Given the description of an element on the screen output the (x, y) to click on. 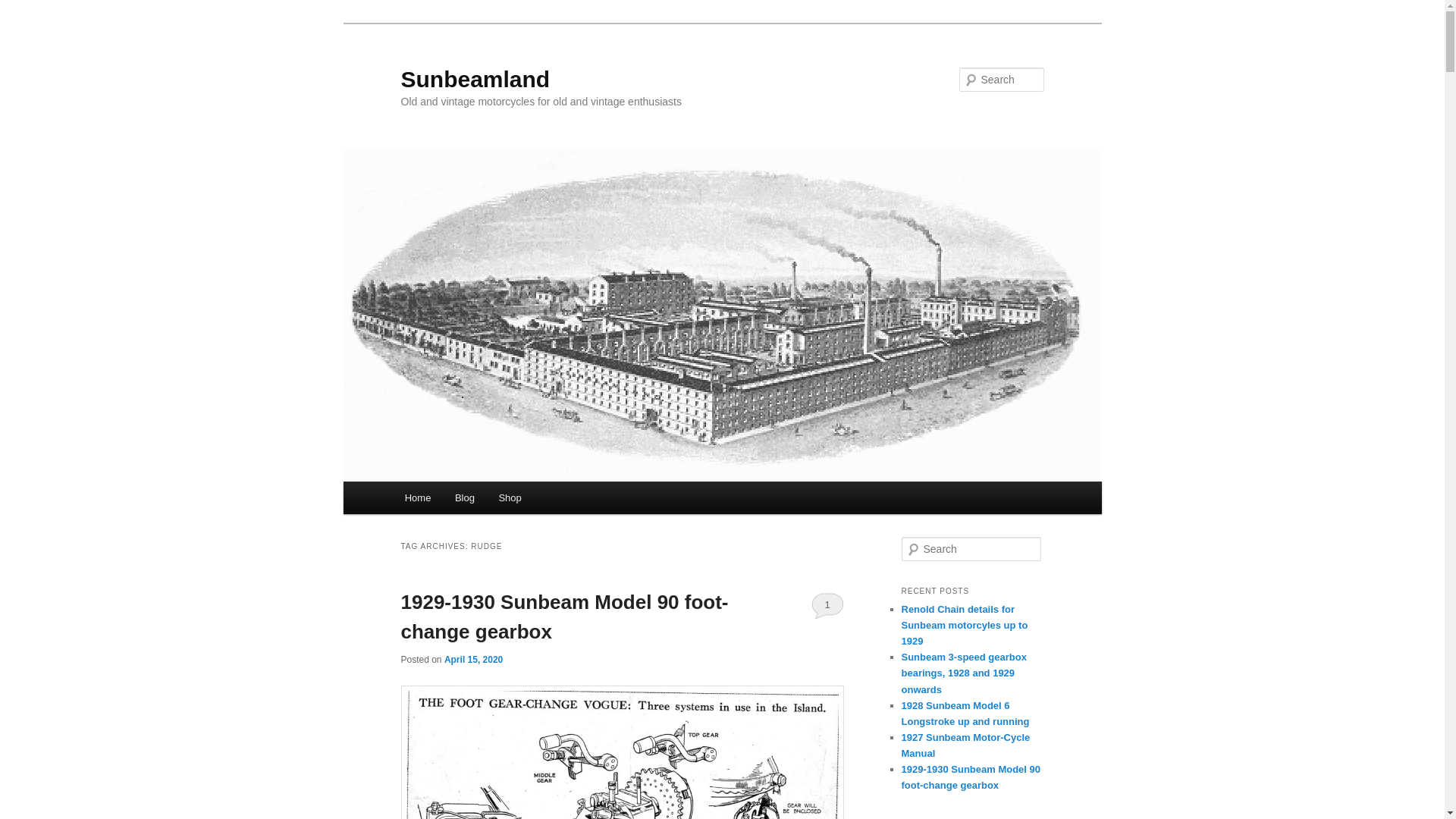
Sunbeamland (475, 78)
1929-1930 Sunbeam Model 90 foot-change gearbox (564, 616)
April 15, 2020 (473, 659)
Search (24, 8)
Home (417, 497)
Shop (510, 497)
1 (827, 605)
Blog (464, 497)
12:16 pm (473, 659)
